Given the description of an element on the screen output the (x, y) to click on. 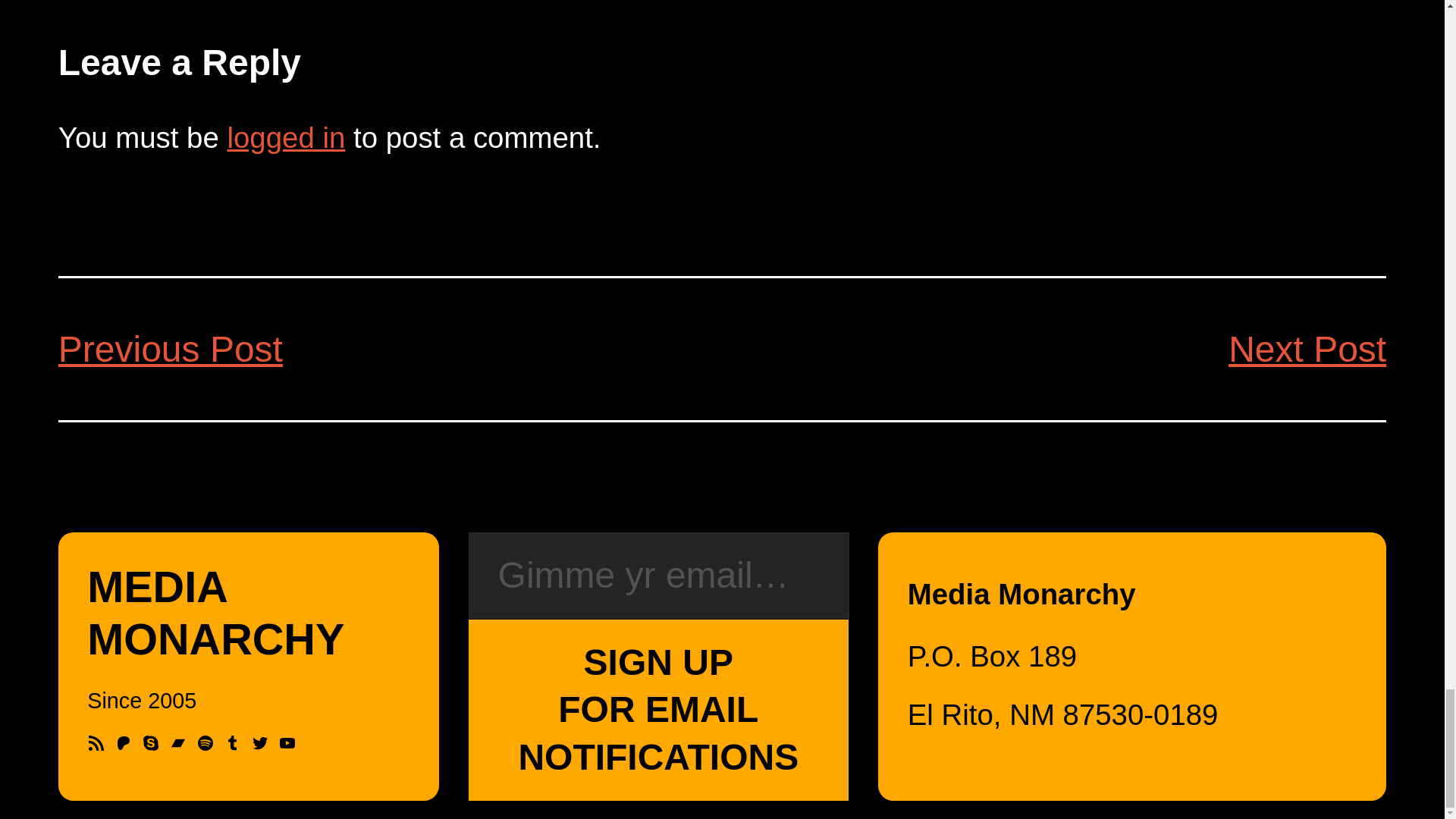
Please fill in this field. (658, 575)
logged in (286, 137)
Previous Post (170, 349)
